Given the description of an element on the screen output the (x, y) to click on. 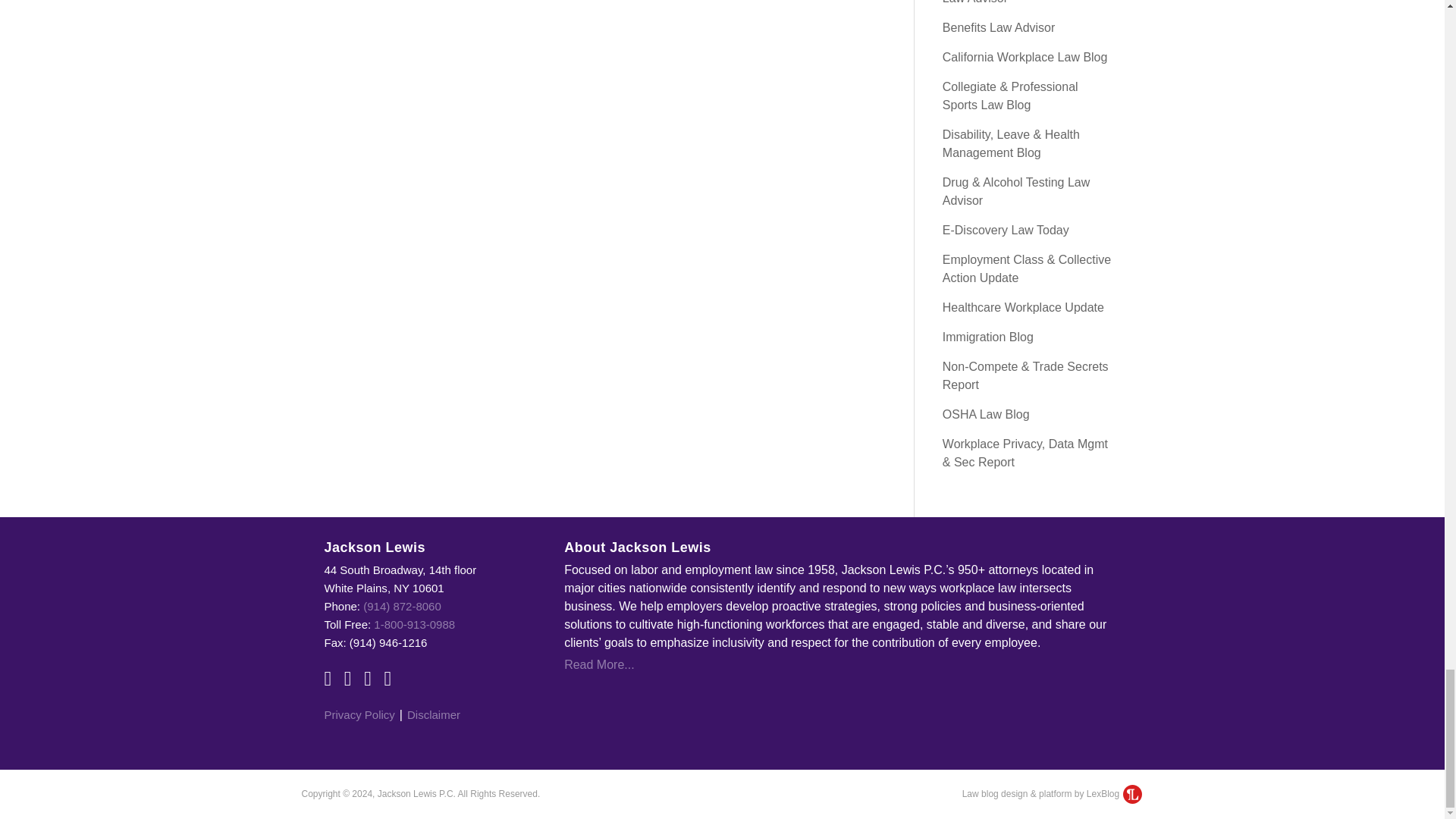
LexBlog Logo (1131, 793)
